Given the description of an element on the screen output the (x, y) to click on. 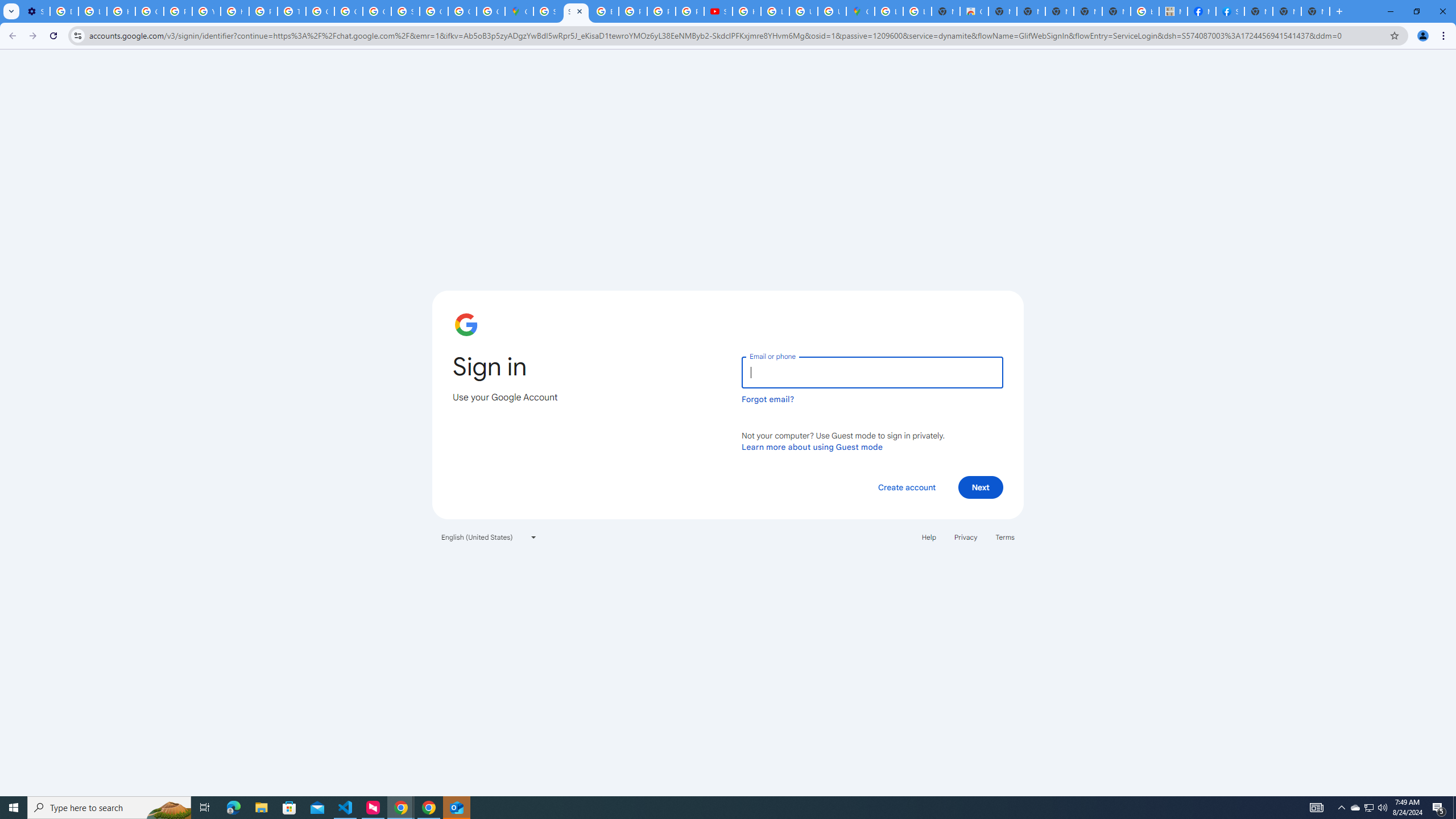
https://scholar.google.com/ (234, 11)
Create account (905, 486)
Blogger Policies and Guidelines - Transparency Center (604, 11)
Settings - Customize profile (35, 11)
English (United States) (489, 536)
Sign in - Google Accounts (547, 11)
Next (980, 486)
Privacy Help Center - Policies Help (661, 11)
Help (928, 536)
New Tab (1315, 11)
Privacy (965, 536)
